Given the description of an element on the screen output the (x, y) to click on. 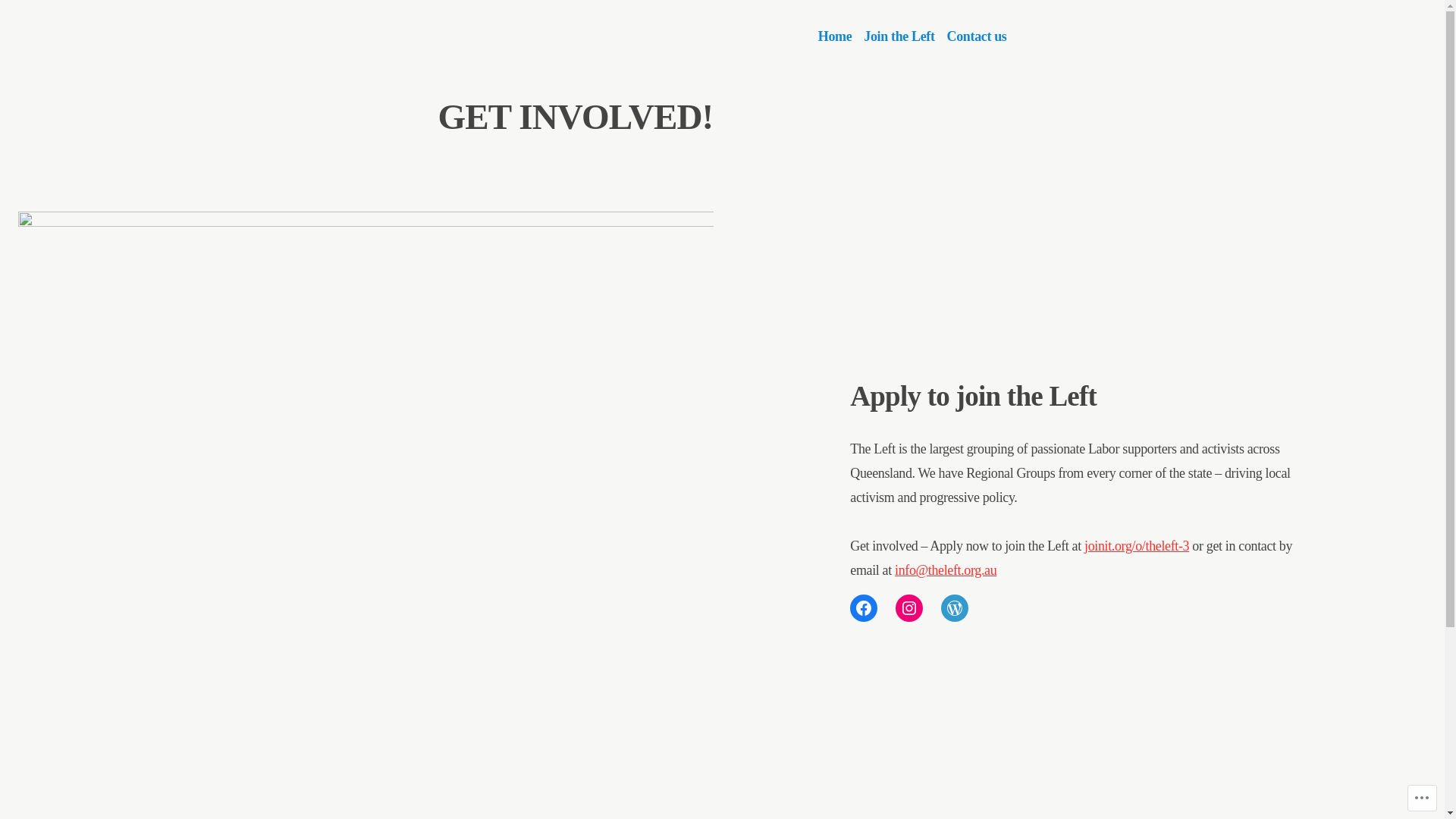
Home Element type: text (838, 36)
Join the Left Element type: text (898, 36)
info@theleft.org.au Element type: text (945, 569)
Contact us Element type: text (974, 36)
joinit.org/o/theleft-3 Element type: text (1136, 545)
